Given the description of an element on the screen output the (x, y) to click on. 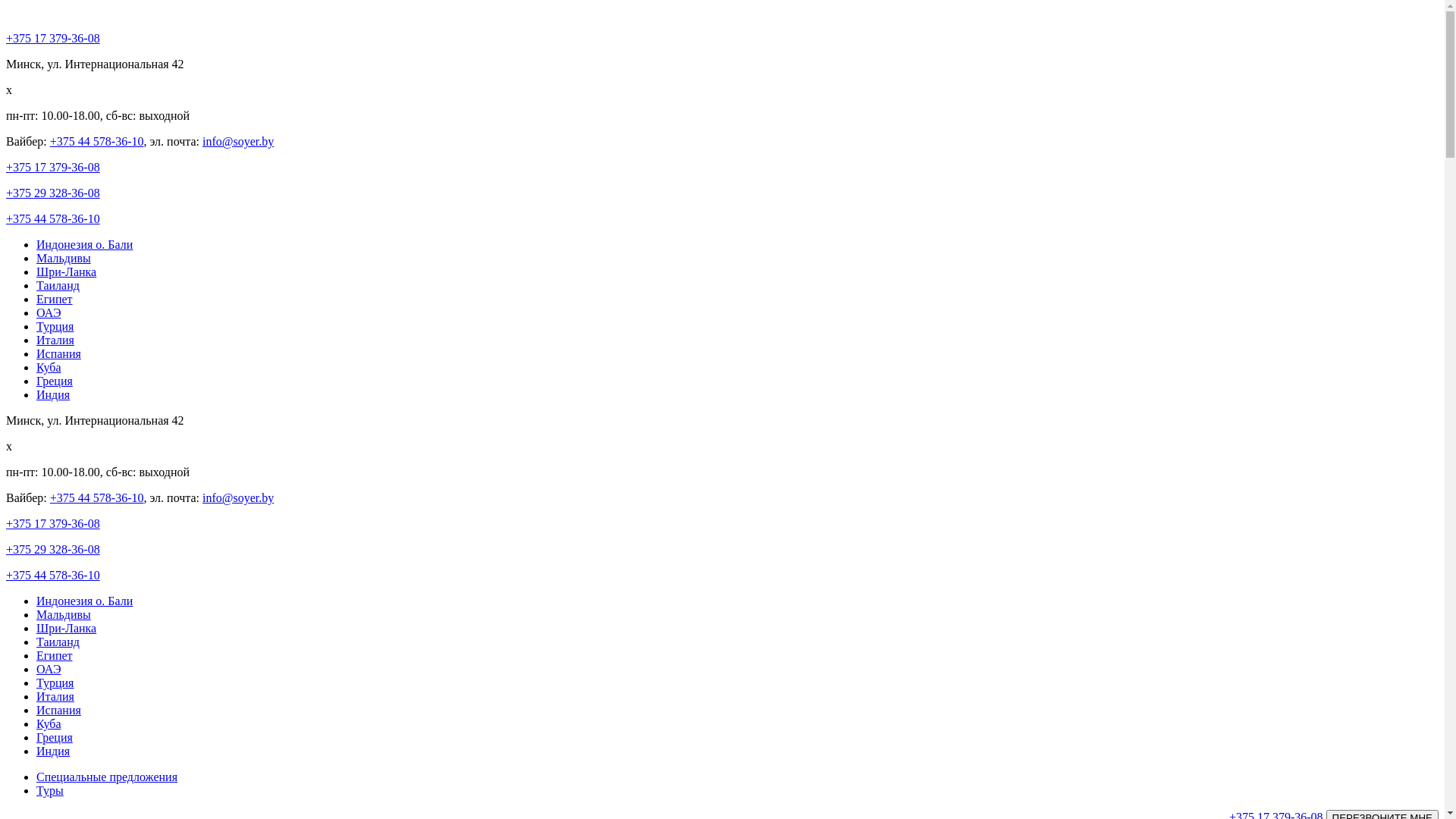
info@soyer.by Element type: text (237, 497)
+375 44 578-36-10 Element type: text (53, 574)
info@soyer.by Element type: text (237, 140)
+375 29 328-36-08 Element type: text (53, 192)
+375 44 578-36-10 Element type: text (97, 497)
+375 44 578-36-10 Element type: text (97, 140)
+375 17 379-36-08 Element type: text (53, 523)
+375 29 328-36-08 Element type: text (53, 548)
+375 17 379-36-08 Element type: text (53, 166)
+375 17 379-36-08 Element type: text (53, 37)
+375 44 578-36-10 Element type: text (53, 218)
